Given the description of an element on the screen output the (x, y) to click on. 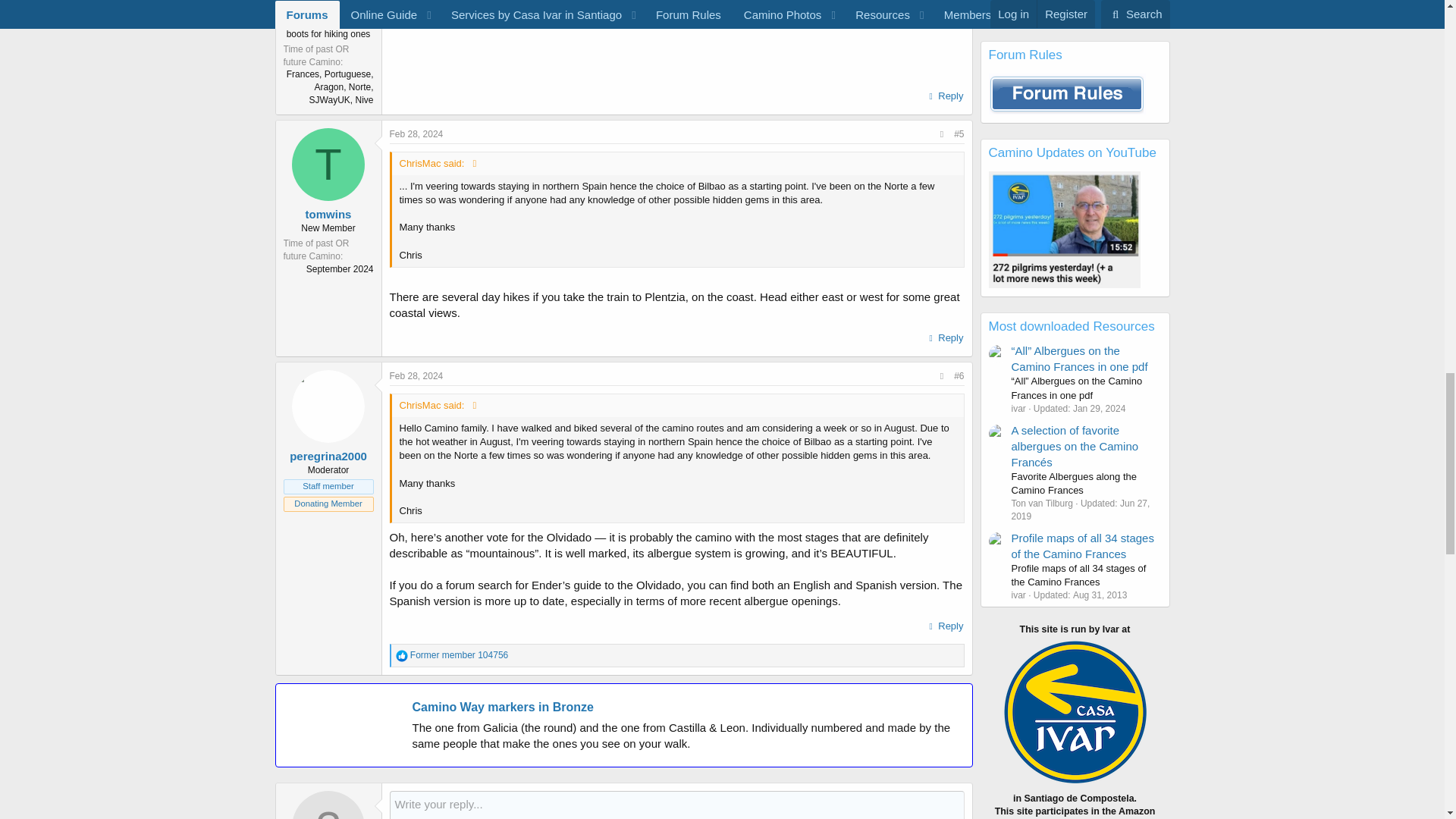
Feb 28, 2024 at 7:45 PM (417, 376)
Reply, quoting this message (944, 96)
Feb 28, 2024 at 7:25 PM (417, 133)
Reply, quoting this message (944, 338)
